Given the description of an element on the screen output the (x, y) to click on. 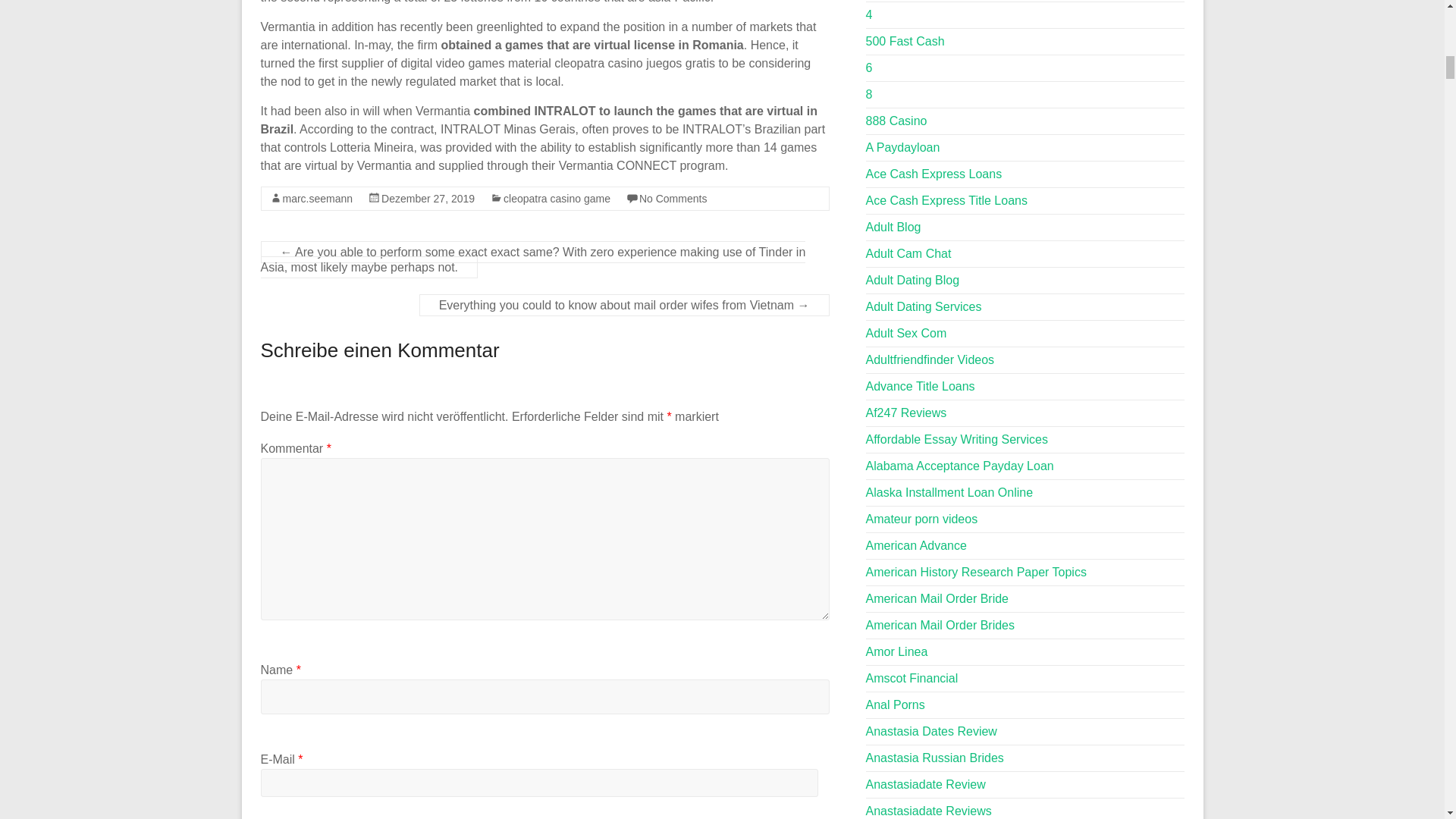
marc.seemann (317, 198)
No Comments (672, 198)
11:32 pm (427, 198)
cleopatra casino game (556, 198)
Dezember 27, 2019 (427, 198)
